Given the description of an element on the screen output the (x, y) to click on. 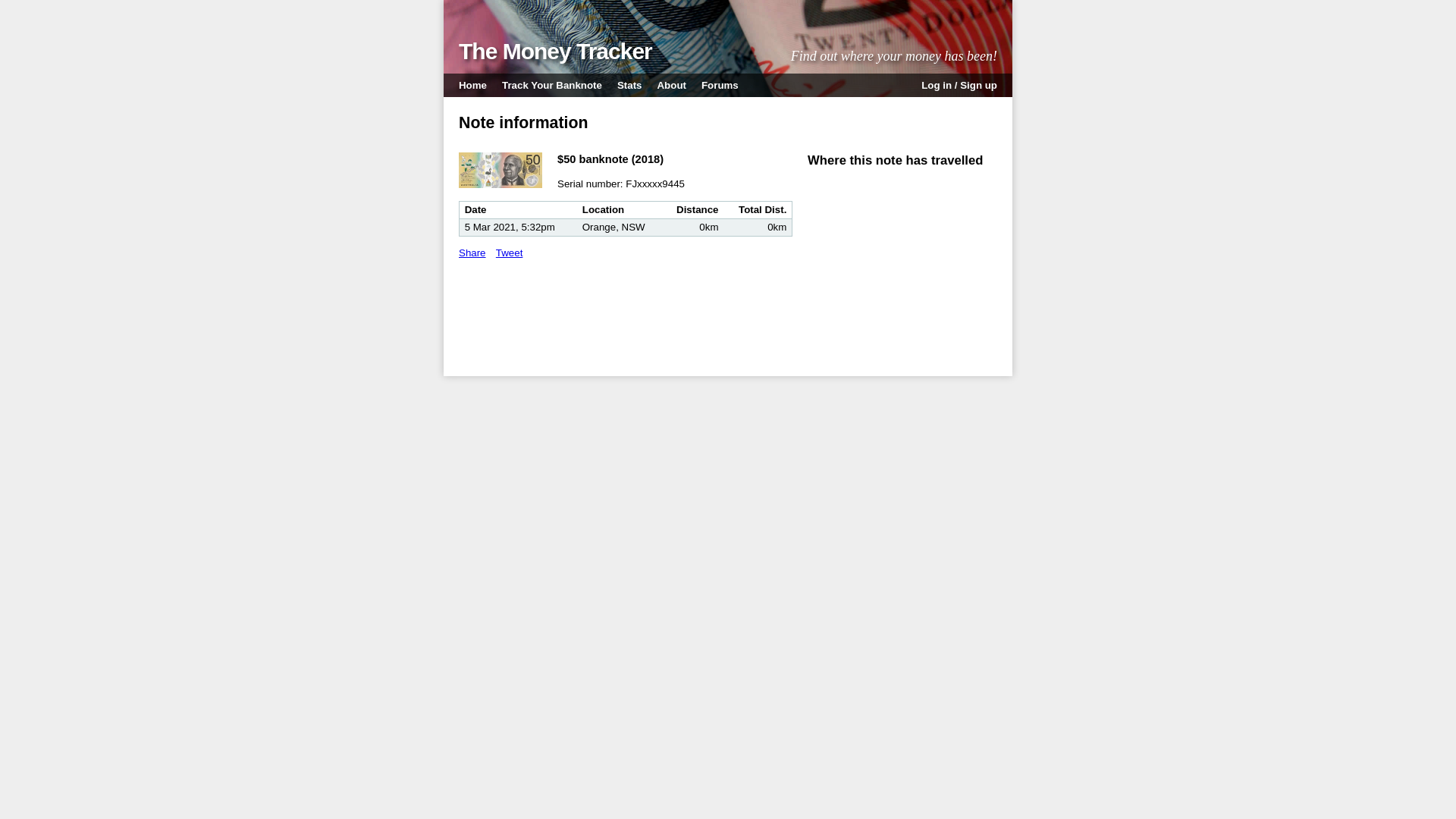
Tweet Element type: text (509, 252)
Stats Element type: text (629, 85)
About Element type: text (671, 85)
Forums Element type: text (719, 85)
Track Your Banknote Element type: text (551, 85)
Log in / Sign up Element type: text (958, 85)
Home Element type: text (472, 85)
Share Element type: text (472, 252)
